Given the description of an element on the screen output the (x, y) to click on. 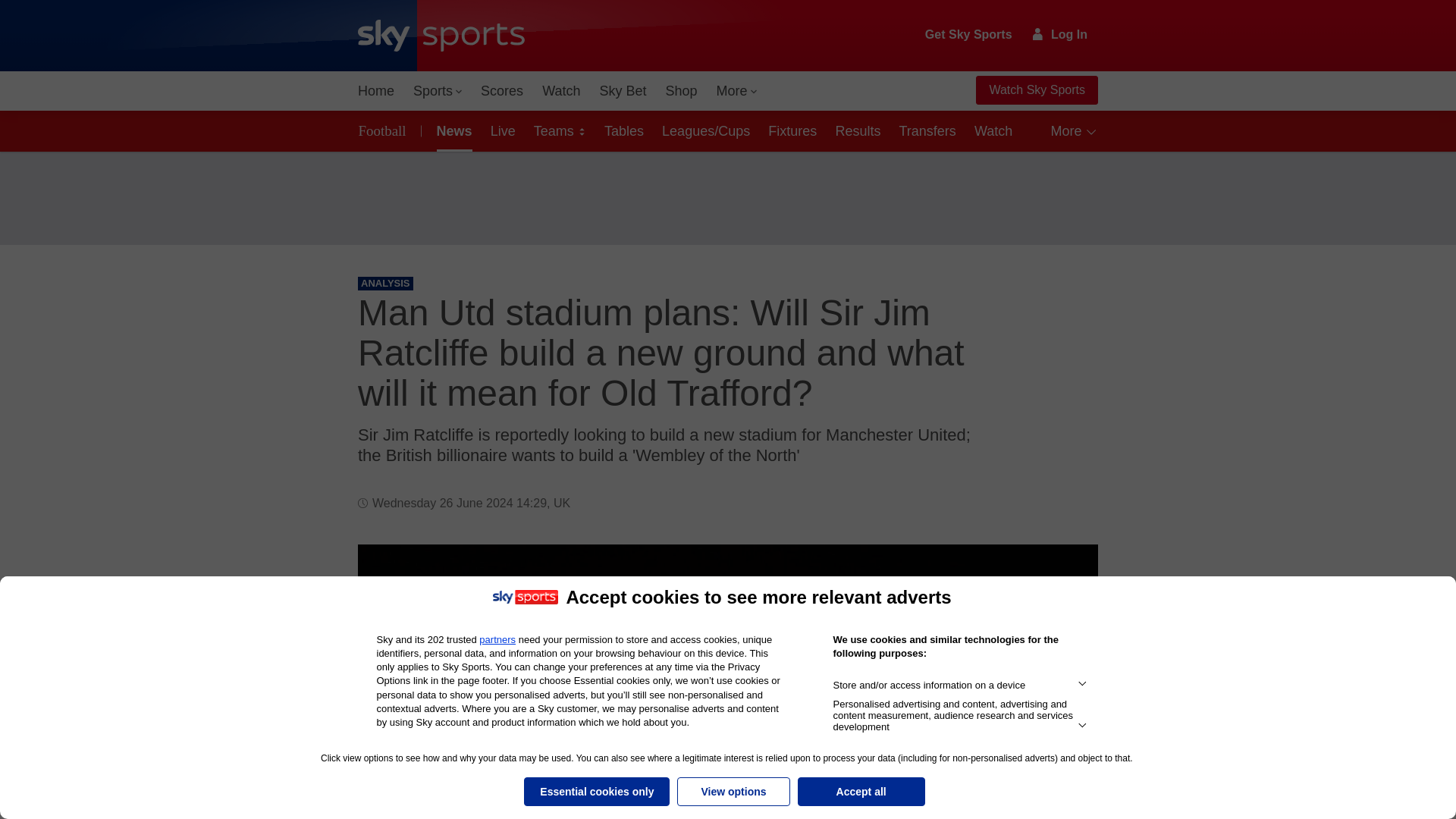
Log In (1060, 33)
Shop (681, 91)
Sports (437, 91)
Share (1067, 574)
Watch (561, 91)
Sky Bet (622, 91)
Football (385, 130)
More (736, 91)
Get Sky Sports (968, 34)
Watch Sky Sports (1036, 90)
Scores (502, 91)
News (451, 130)
Home (375, 91)
